Given the description of an element on the screen output the (x, y) to click on. 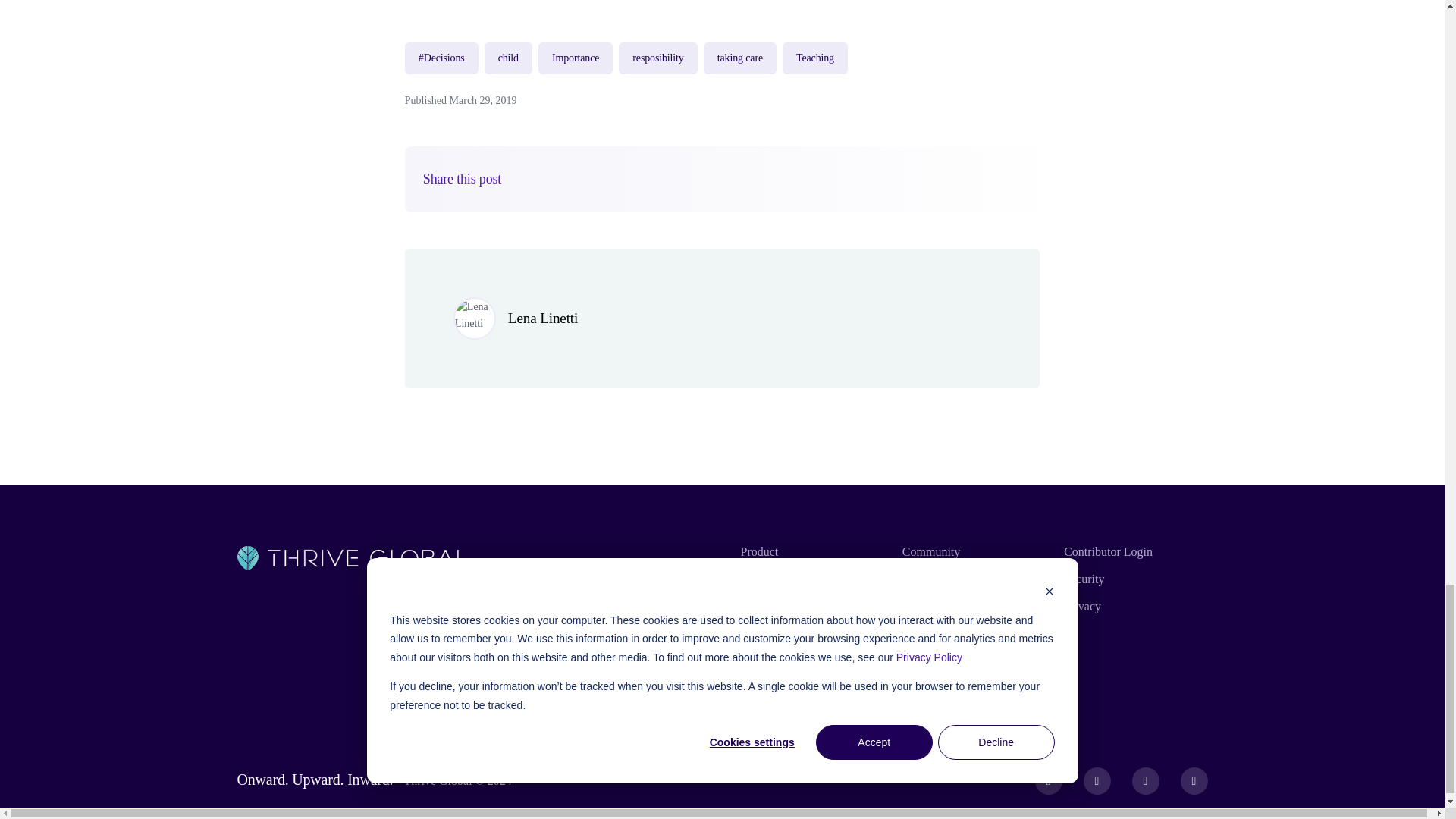
Lena Linetti (543, 317)
